Given the description of an element on the screen output the (x, y) to click on. 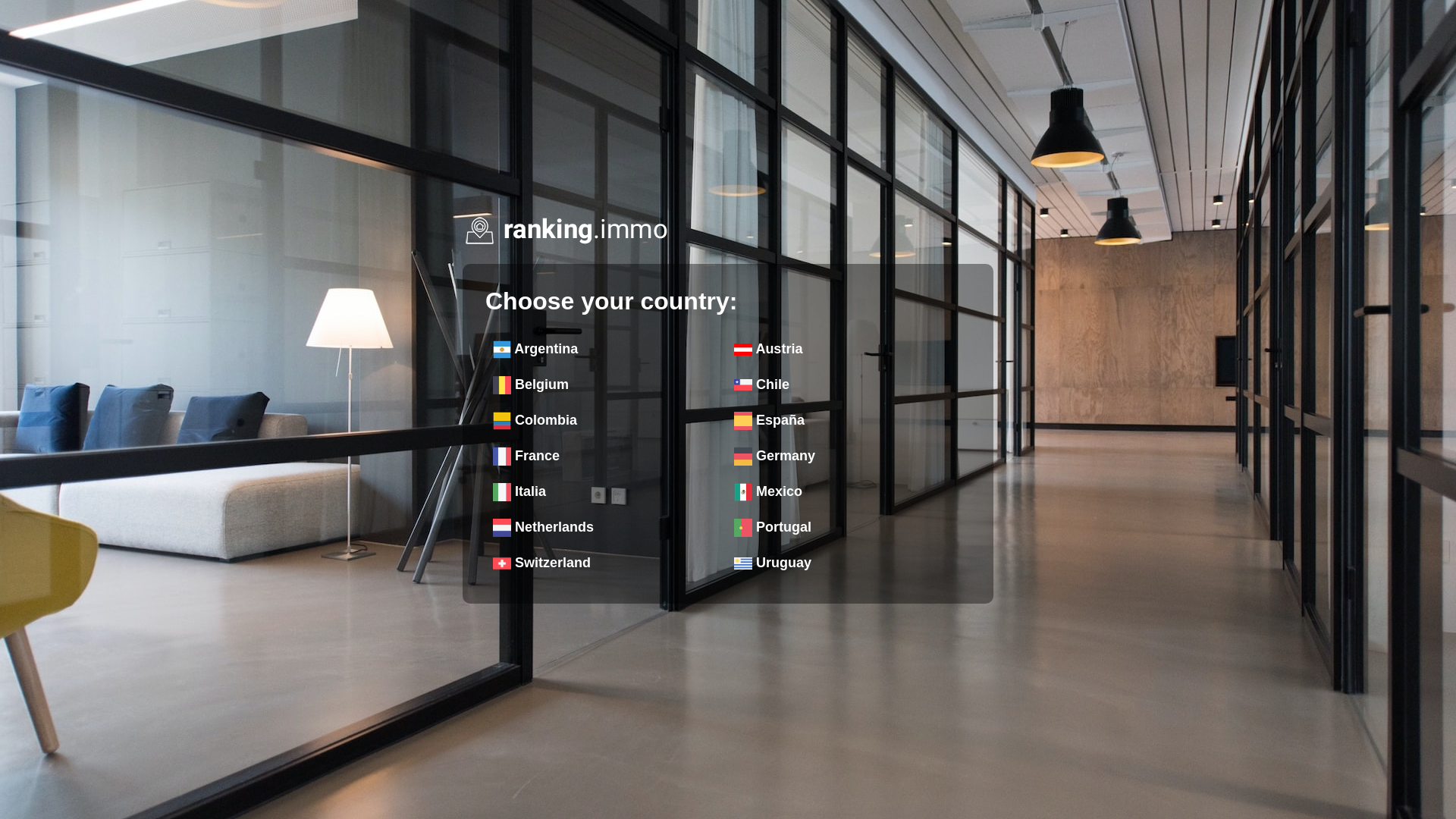
Italia (603, 491)
Uruguay (844, 562)
Colombia (603, 420)
France (603, 456)
Portugal (844, 527)
Chile (844, 384)
Switzerland (603, 562)
Netherlands (603, 527)
Argentina (603, 348)
Belgium (603, 384)
Austria (844, 348)
Mexico (844, 491)
Germany (844, 456)
